Given the description of an element on the screen output the (x, y) to click on. 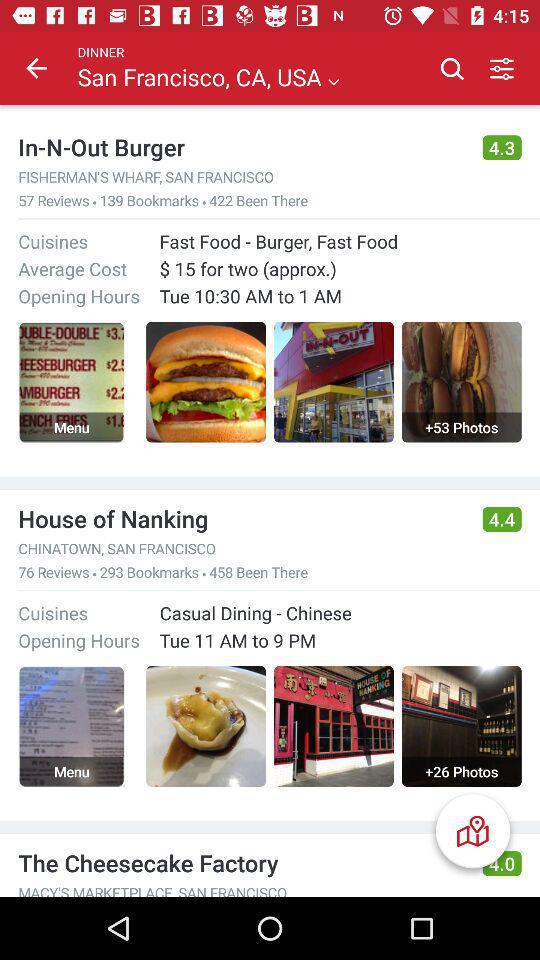
choose item next to the dinner (36, 68)
